Given the description of an element on the screen output the (x, y) to click on. 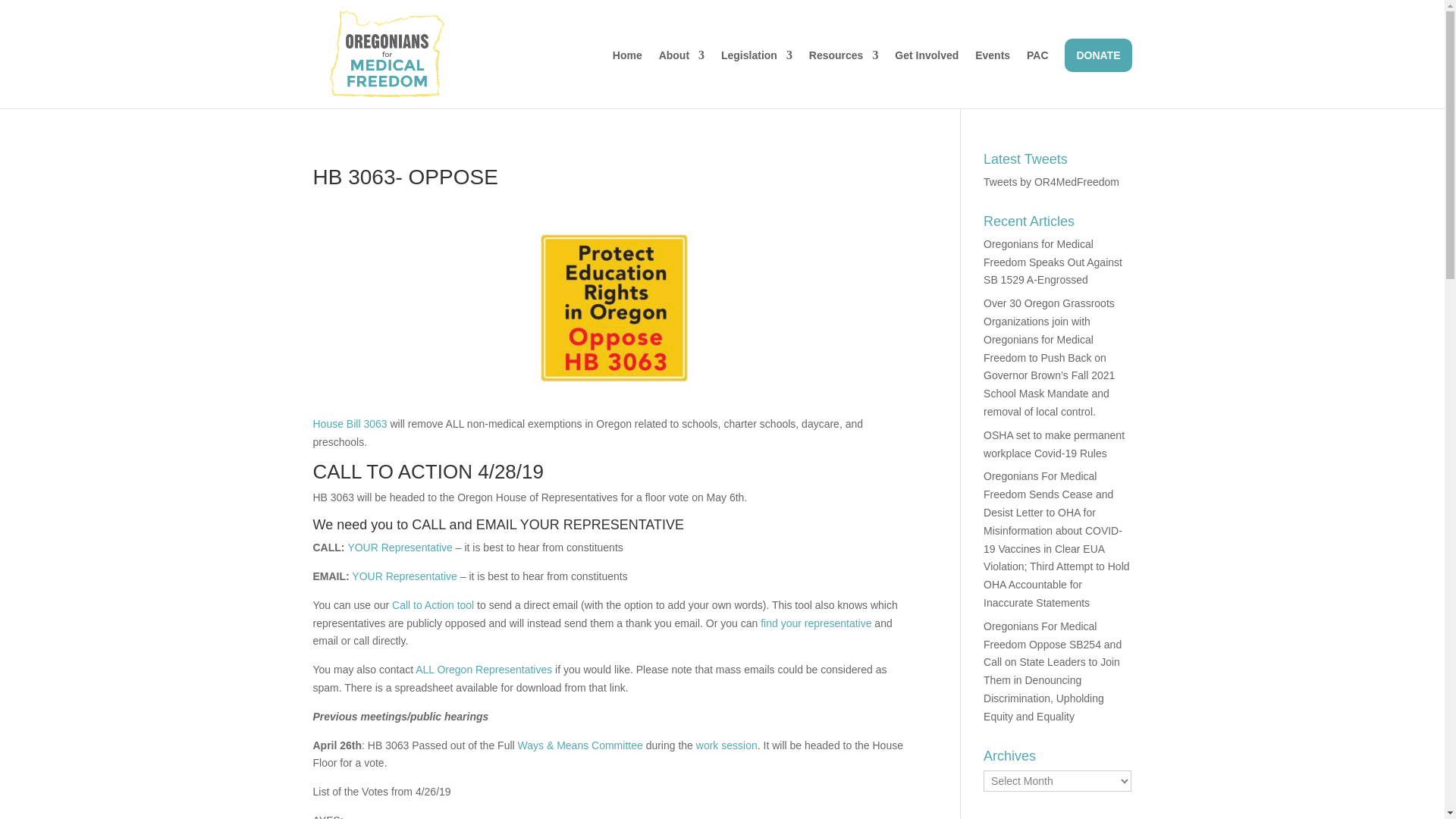
DONATE (1097, 55)
Get Involved (926, 78)
Legislation (756, 78)
Resources (844, 78)
